Given the description of an element on the screen output the (x, y) to click on. 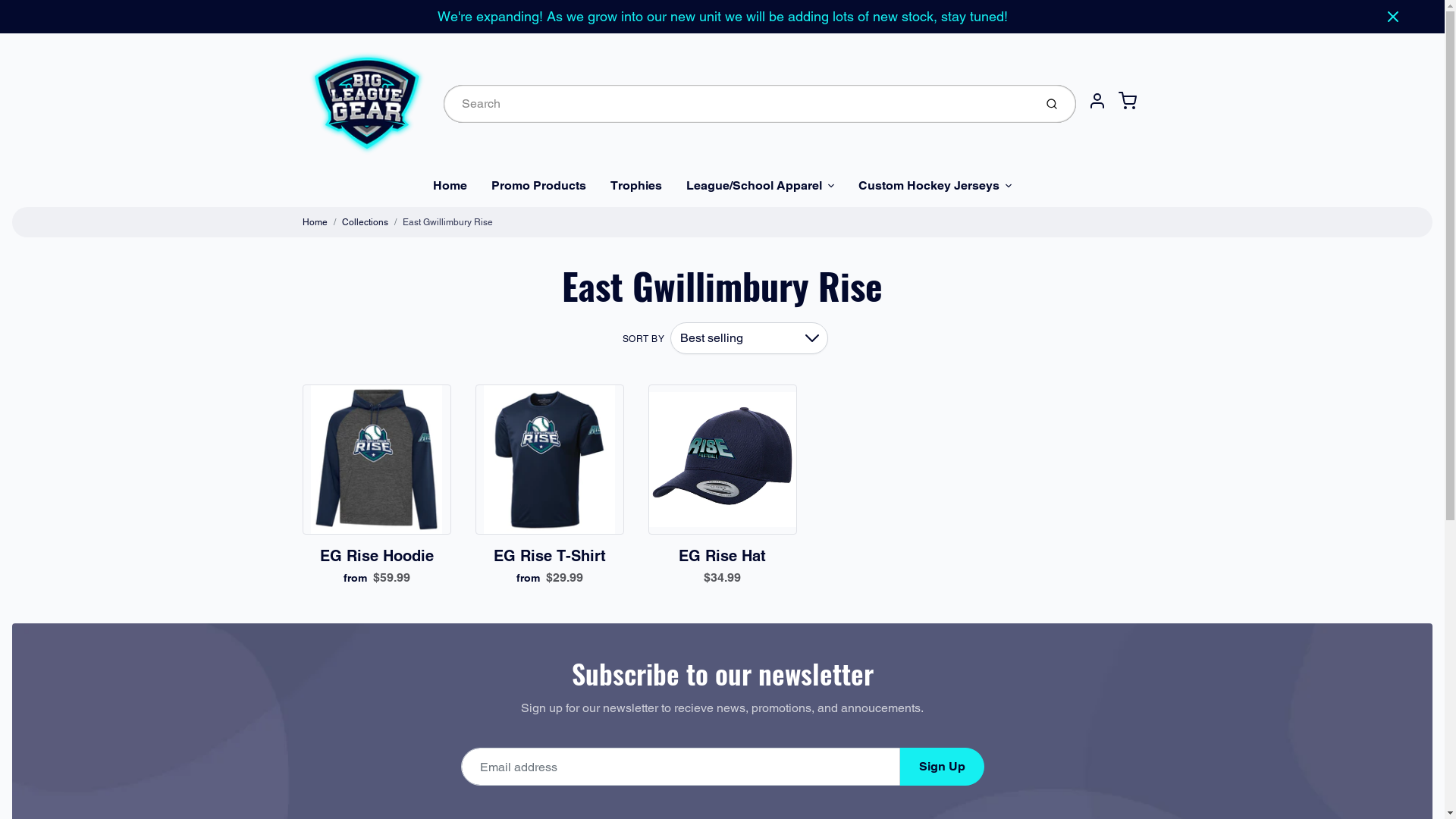
EG Rise T-Shirt Element type: text (548, 555)
League/School Apparel Element type: text (760, 185)
EG Rise Hoodie Element type: text (376, 555)
Collections Element type: text (364, 222)
Custom Hockey Jerseys Element type: text (934, 185)
Account Element type: text (1096, 100)
Cart Element type: text (1126, 100)
Promo Products Element type: text (538, 185)
East Gwillimbury Rise Element type: text (446, 222)
Home Element type: text (449, 185)
Trophies Element type: text (636, 185)
Best selling
Down Element type: text (749, 338)
Home Element type: text (313, 222)
EG Rise Hat Element type: text (721, 555)
Sign Up Element type: text (941, 766)
Submit Element type: text (1052, 103)
